Given the description of an element on the screen output the (x, y) to click on. 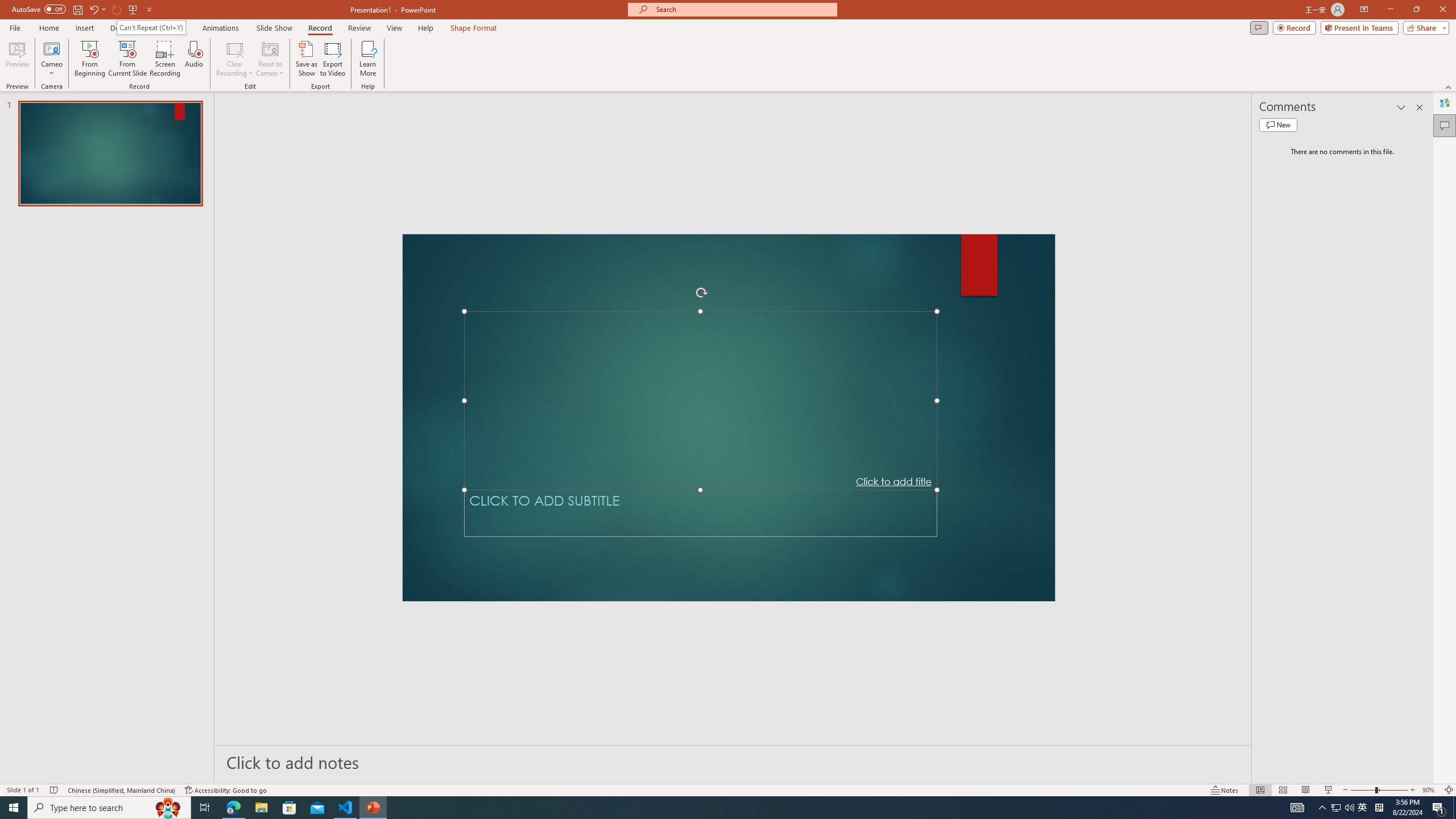
Export to Video (332, 58)
Subtitle TextBox (700, 513)
Clear Recording (234, 58)
